Given the description of an element on the screen output the (x, y) to click on. 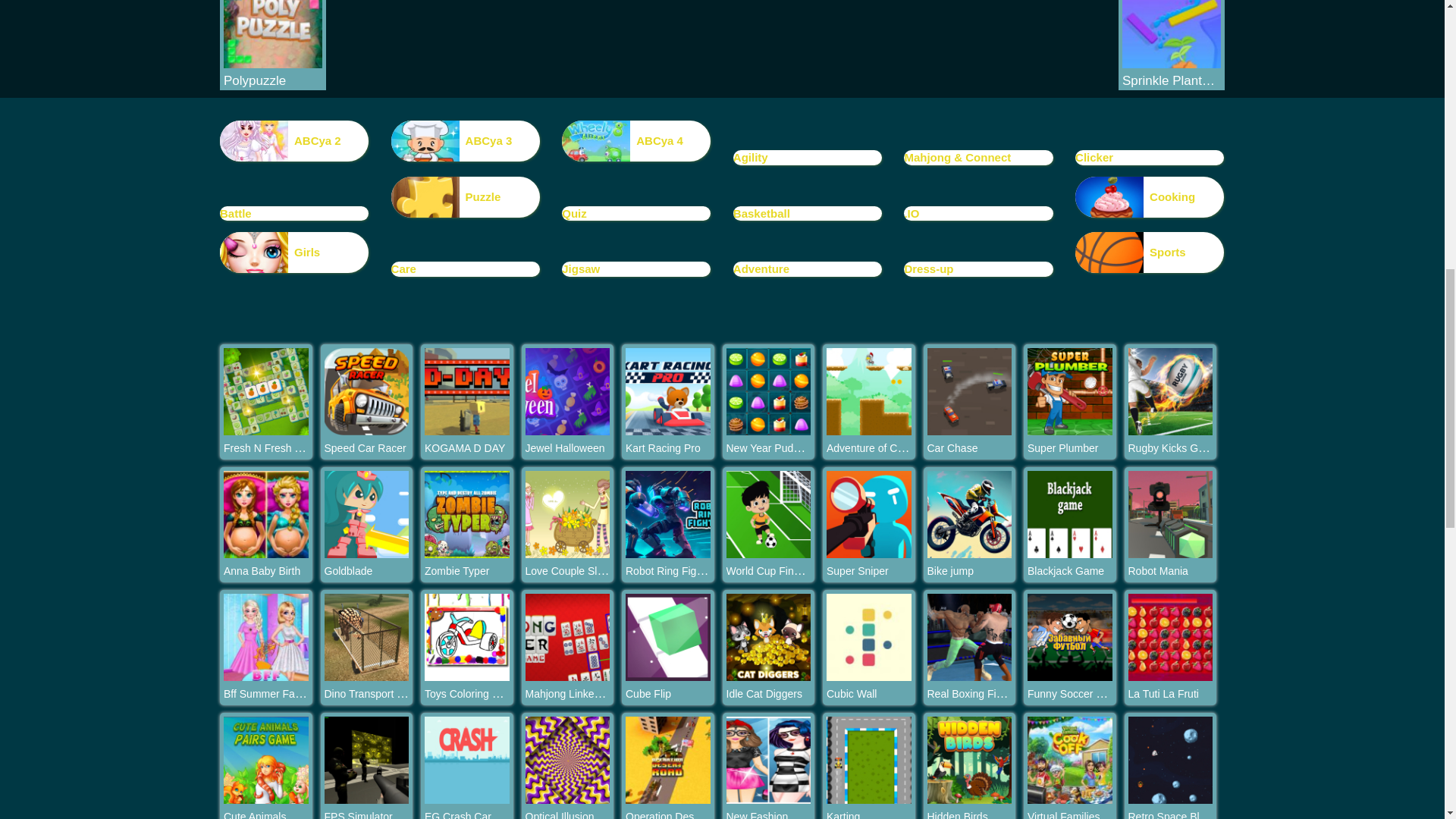
Polypuzzle (272, 80)
